Given the description of an element on the screen output the (x, y) to click on. 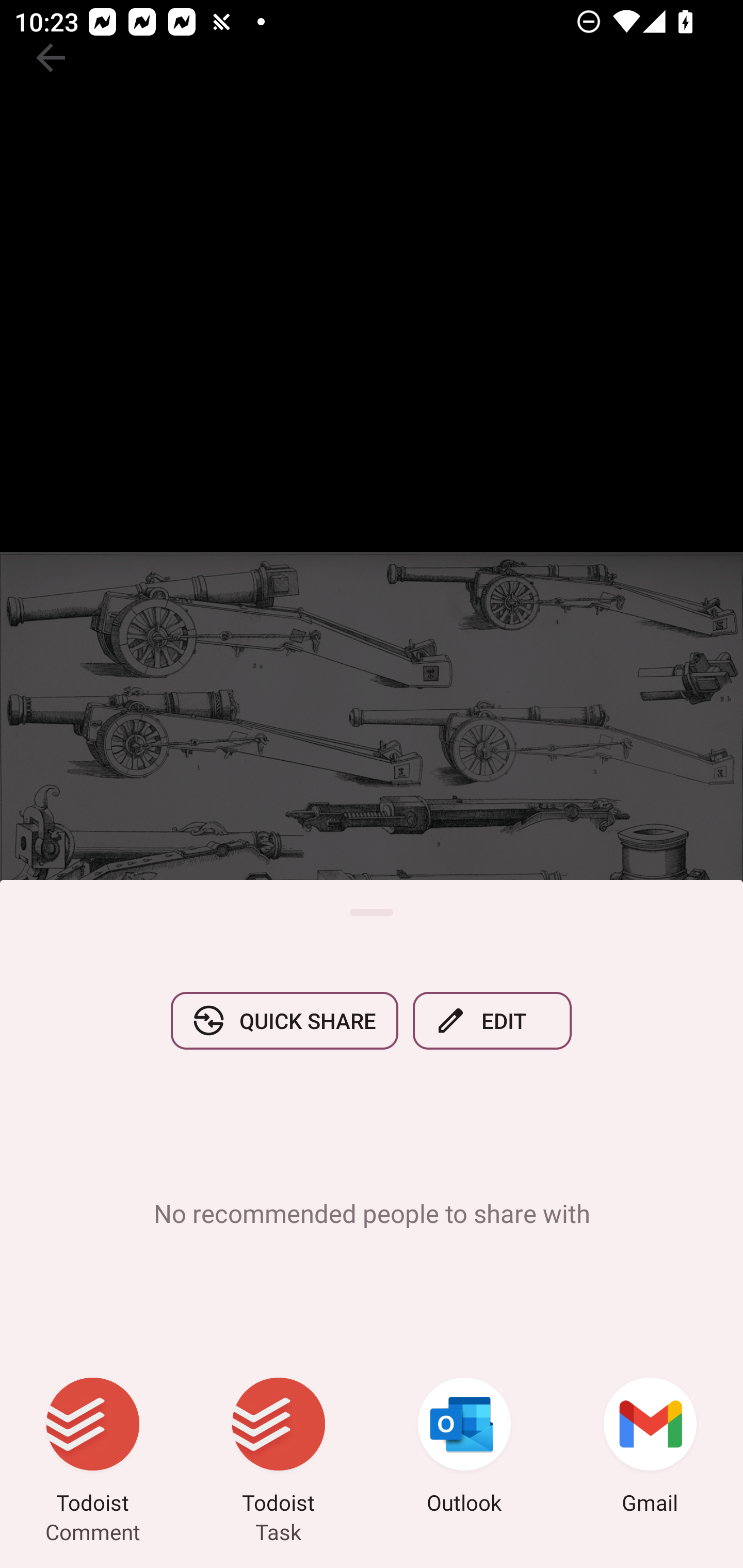
QUICK SHARE (284, 1020)
EDIT (492, 1020)
Todoist Comment (92, 1448)
Todoist Task (278, 1448)
Outlook (464, 1448)
Gmail (650, 1448)
